Given the description of an element on the screen output the (x, y) to click on. 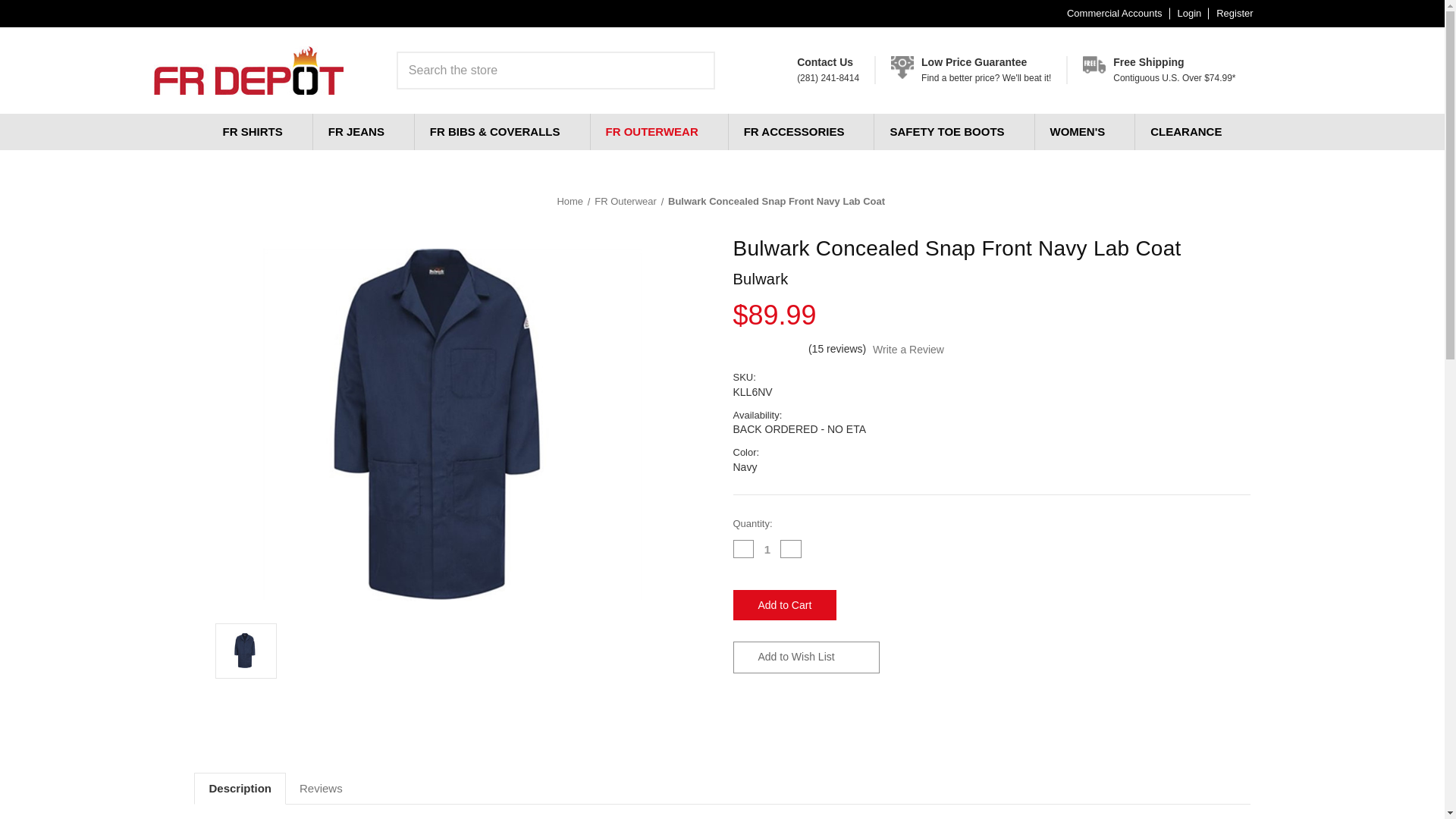
FR JEANS (363, 131)
FR Depot (247, 70)
Login (1189, 13)
Bulwark FR Concealed Snap Front Navy Lab Coat KLL6NV (452, 424)
Add to Cart (971, 69)
Register (783, 604)
1 (1234, 13)
Commercial Accounts (767, 549)
FR SHIRTS (1114, 13)
